Given the description of an element on the screen output the (x, y) to click on. 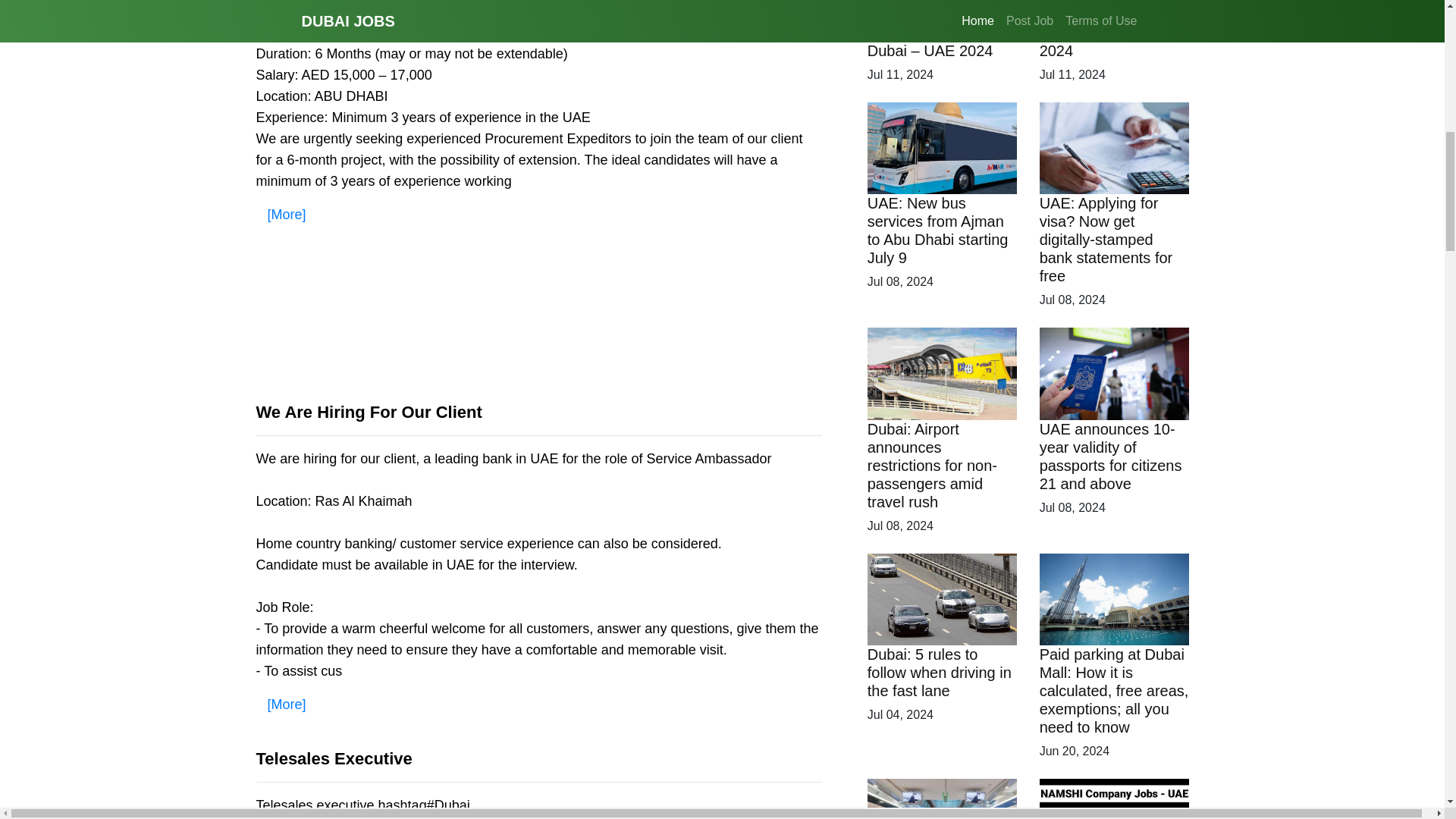
Advertisement (539, 330)
